Given the description of an element on the screen output the (x, y) to click on. 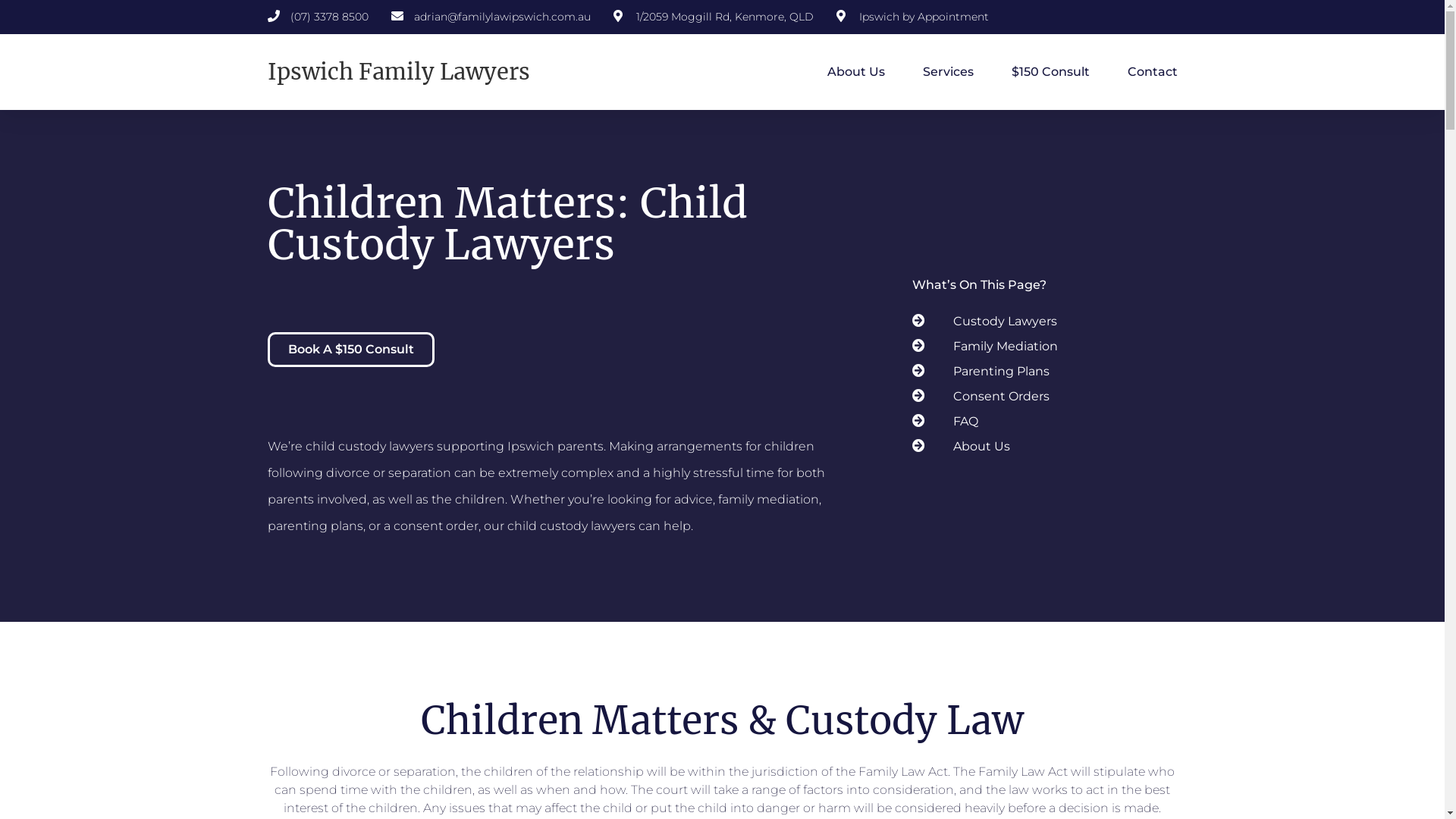
Custody Lawyers Element type: text (1040, 321)
Family Mediation Element type: text (1040, 346)
$150 Consult Element type: text (1050, 71)
Parenting Plans Element type: text (1040, 371)
About Us Element type: text (855, 71)
Ipswich Family Lawyers Element type: text (397, 71)
Consent Orders Element type: text (1040, 396)
FAQ Element type: text (1040, 421)
Services Element type: text (947, 71)
About Us Element type: text (1040, 446)
Book A $150 Consult Element type: text (349, 349)
Contact Element type: text (1151, 71)
